Given the description of an element on the screen output the (x, y) to click on. 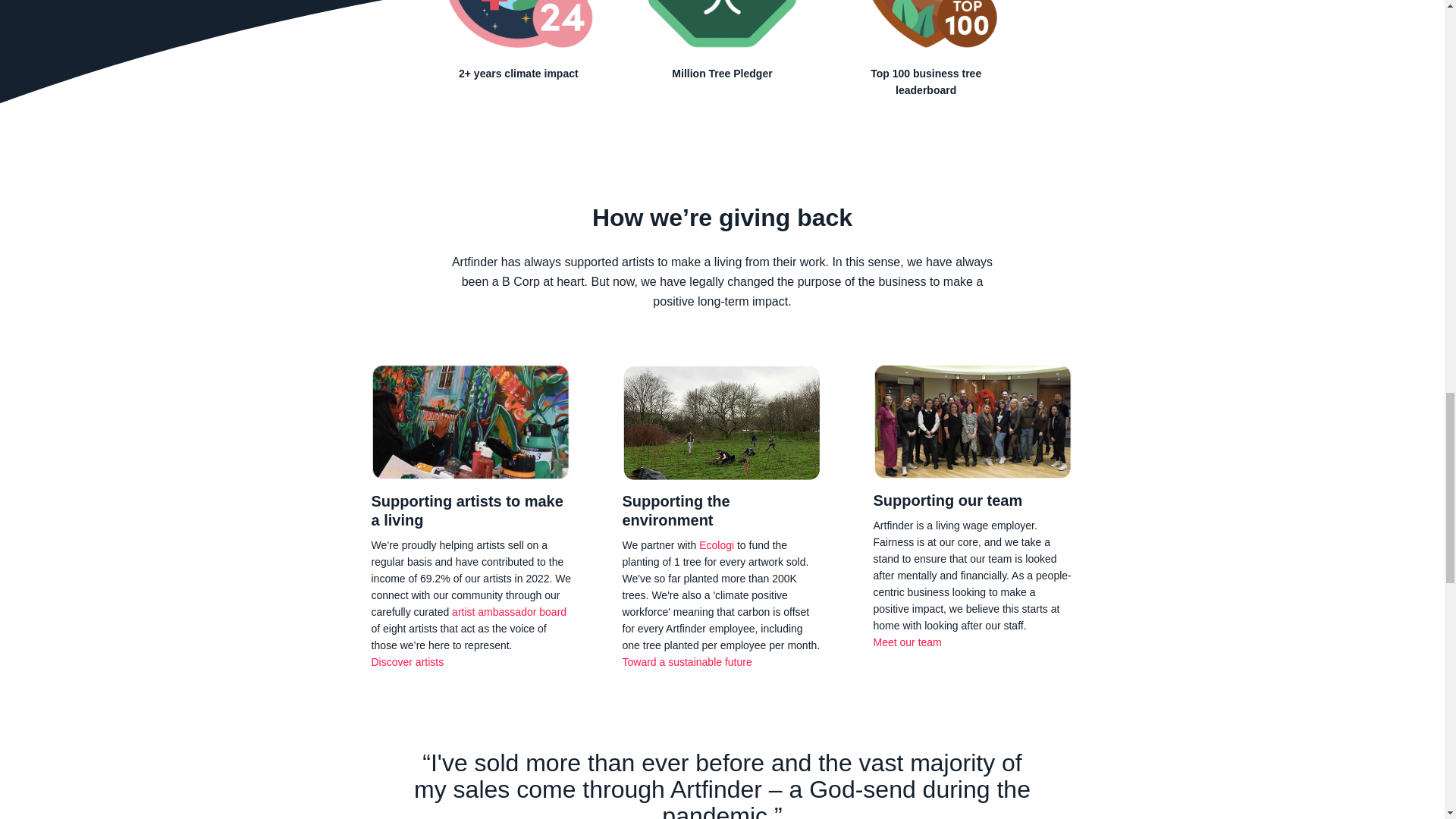
artist ambassador board (508, 612)
Meet our team (907, 642)
Toward a sustainable future (686, 662)
Ecologi (715, 544)
Discover artists (407, 662)
